Given the description of an element on the screen output the (x, y) to click on. 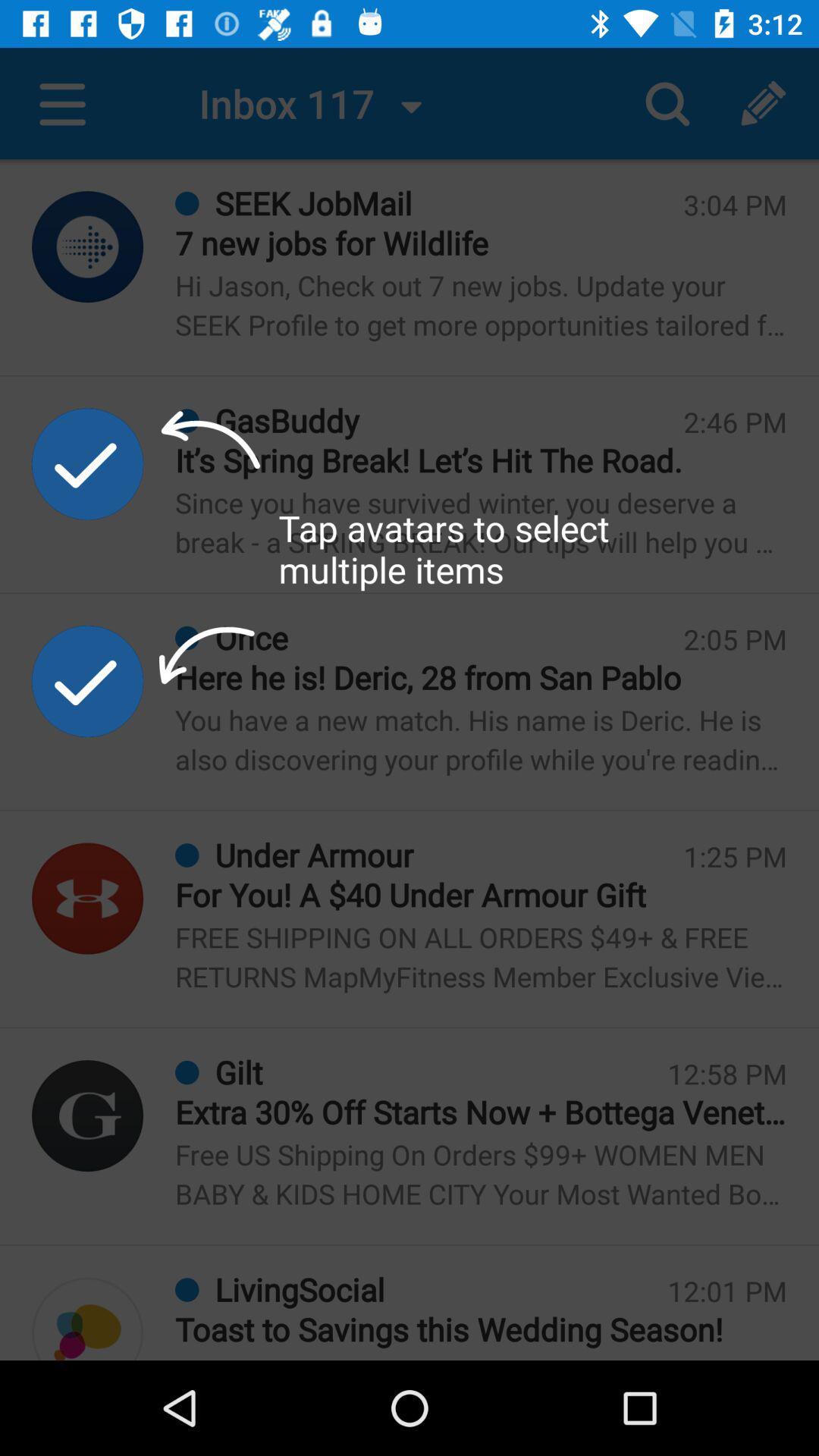
select one (87, 463)
